Given the description of an element on the screen output the (x, y) to click on. 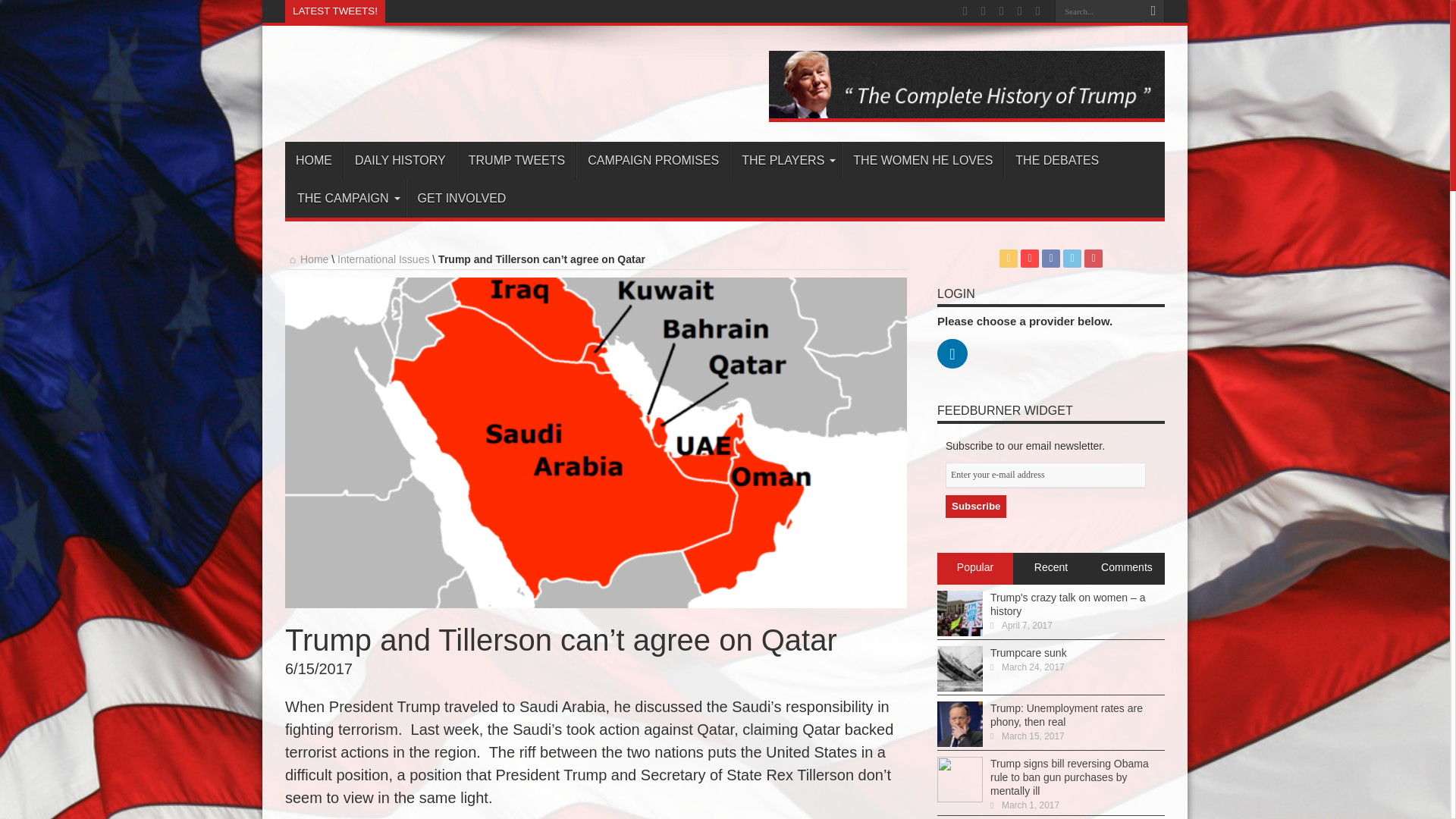
Subscribe (975, 506)
Search... (1097, 11)
THE CAMPAIGN (345, 198)
Login with facebook (956, 372)
THE DEBATES (1056, 160)
Enter your e-mail address (1044, 474)
The Trump Chronicle (483, 84)
GET INVOLVED (461, 198)
Permalink to Trumpcare sunk (959, 687)
The Complete History of Trump (966, 118)
